Given the description of an element on the screen output the (x, y) to click on. 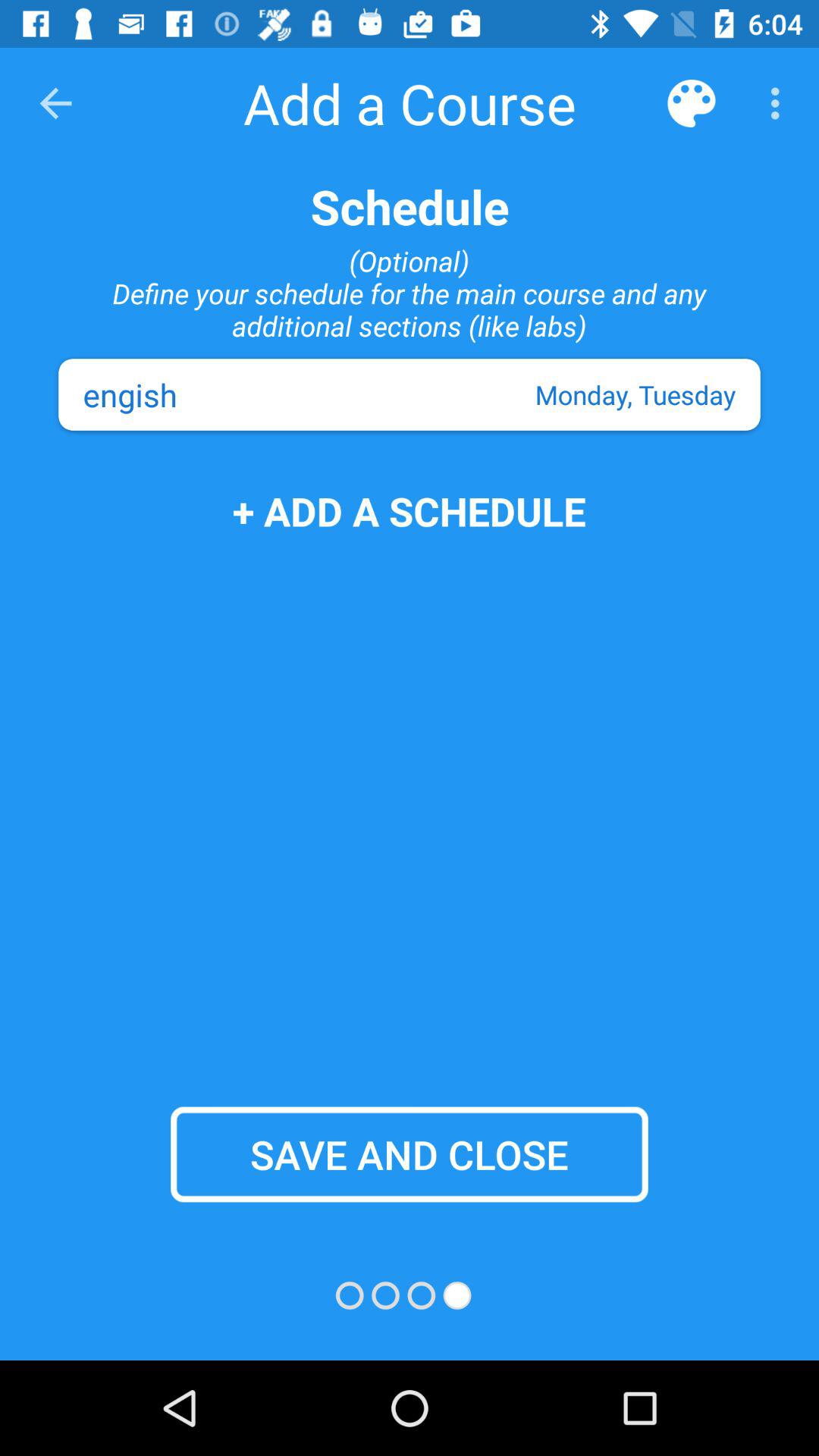
scroll to the save and close item (409, 1154)
